Given the description of an element on the screen output the (x, y) to click on. 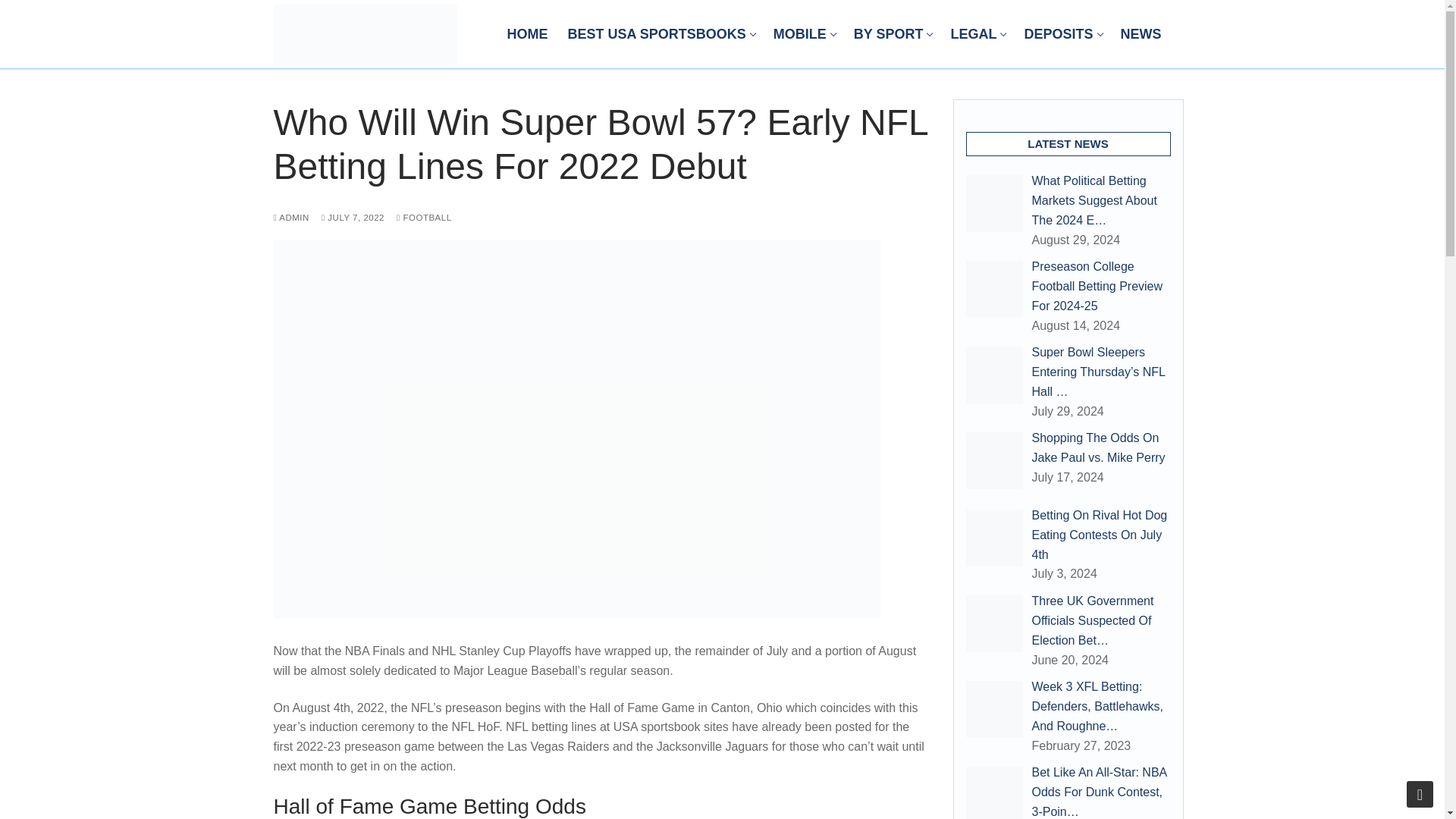
HOME (976, 33)
